Given the description of an element on the screen output the (x, y) to click on. 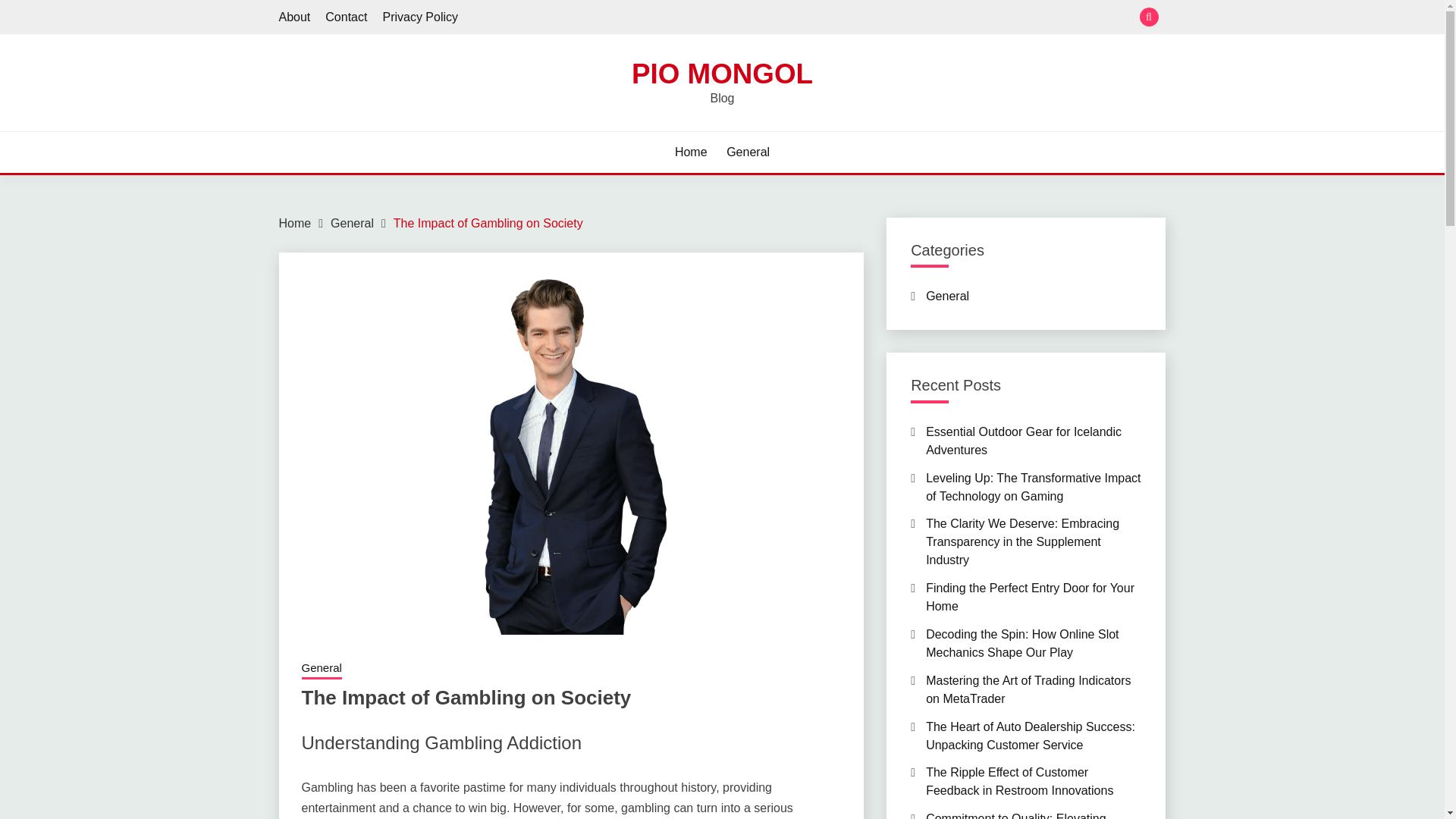
General (352, 223)
General (748, 152)
Essential Outdoor Gear for Icelandic Adventures (1023, 440)
General (321, 669)
The Impact of Gambling on Society (488, 223)
General (947, 295)
Home (691, 152)
Finding the Perfect Entry Door for Your Home (1030, 596)
About (295, 16)
